Given the description of an element on the screen output the (x, y) to click on. 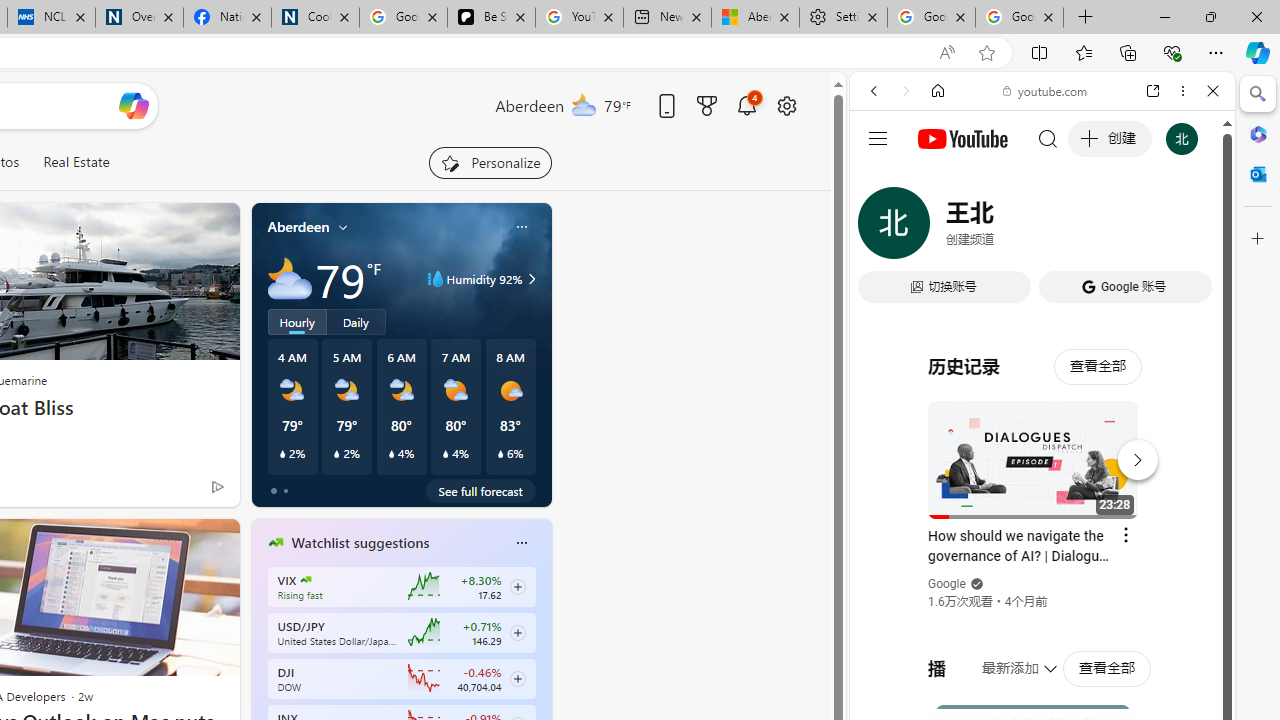
Real Estate (76, 161)
Close Customize pane (1258, 239)
tab-0 (273, 490)
Search Filter, VIDEOS (1006, 228)
SEARCH TOOLS (1093, 228)
Close Outlook pane (1258, 174)
Personalize your feed" (489, 162)
Class: b_serphb (1190, 229)
Class: weather-current-precipitation-glyph (500, 453)
More options (1182, 91)
